Given the description of an element on the screen output the (x, y) to click on. 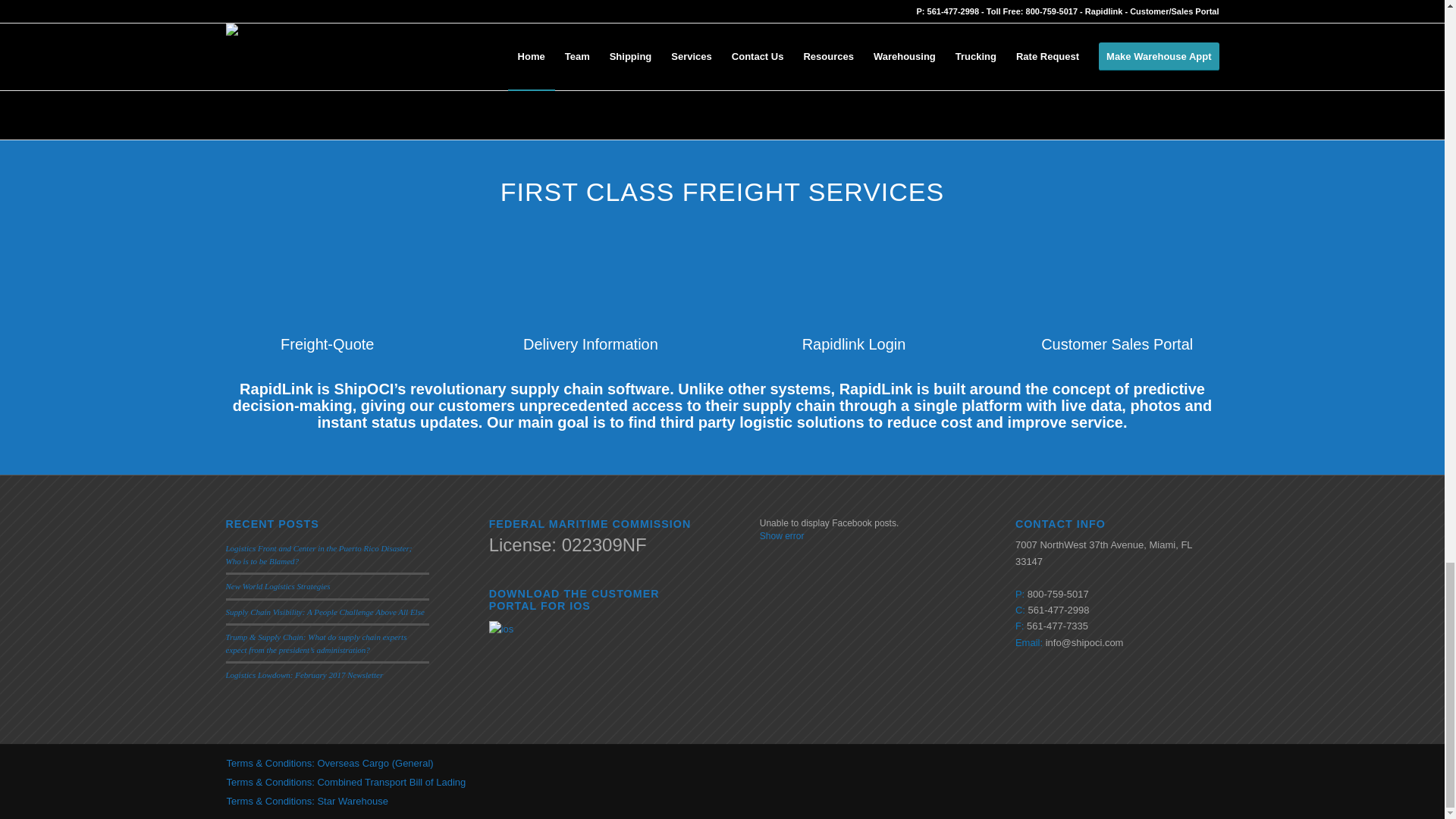
Uberization of Logistics (722, 42)
Supply Chain Visibility: A People Challenge Above All Else (325, 611)
New World Logistics Strategies (277, 585)
